Given the description of an element on the screen output the (x, y) to click on. 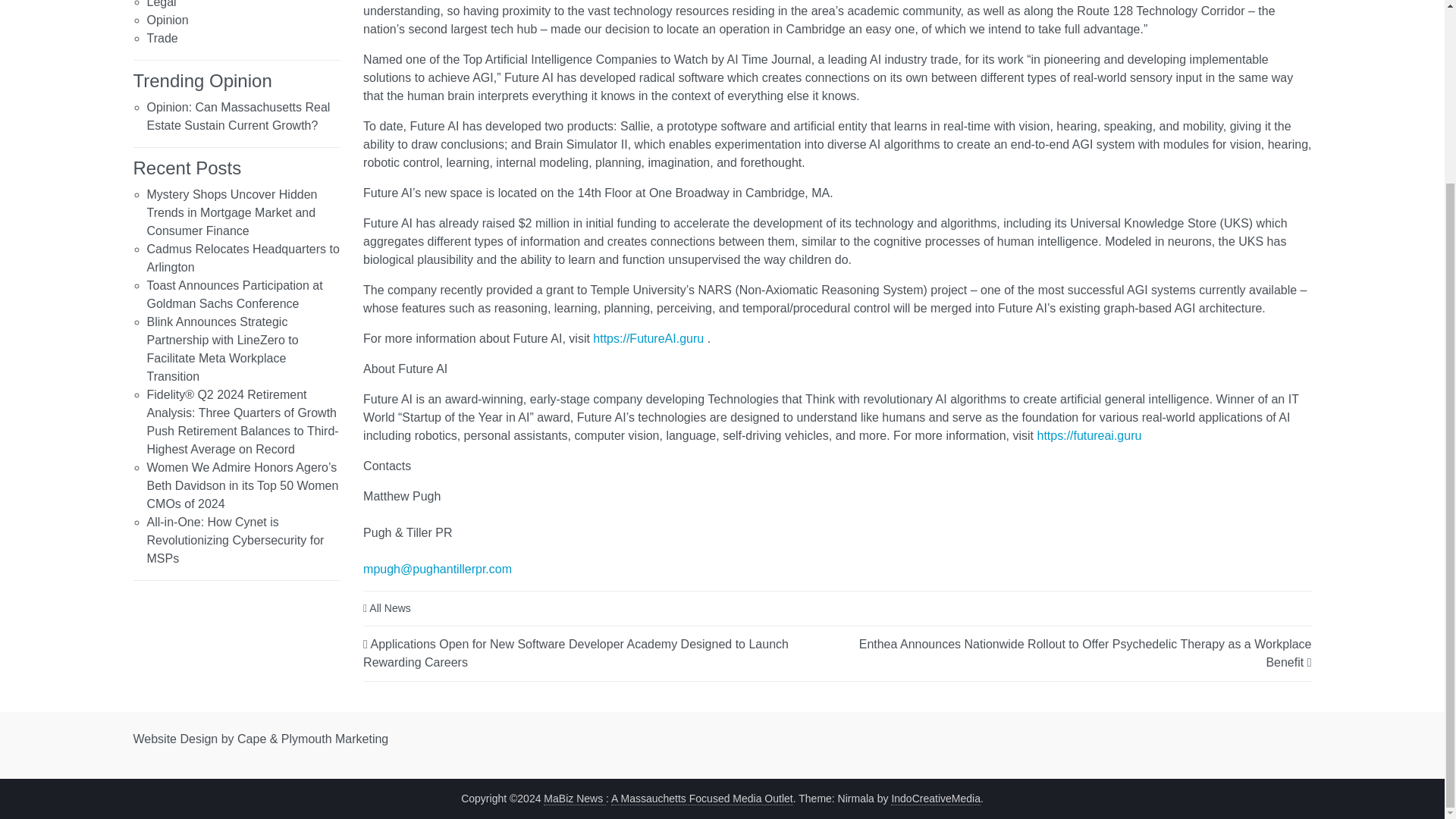
A Massauchetts Focused Media Outlet (702, 797)
Website Design (175, 738)
MaBiz News (574, 797)
IndoCreativeMedia (935, 797)
Opinion (168, 19)
Trade (162, 38)
